Given the description of an element on the screen output the (x, y) to click on. 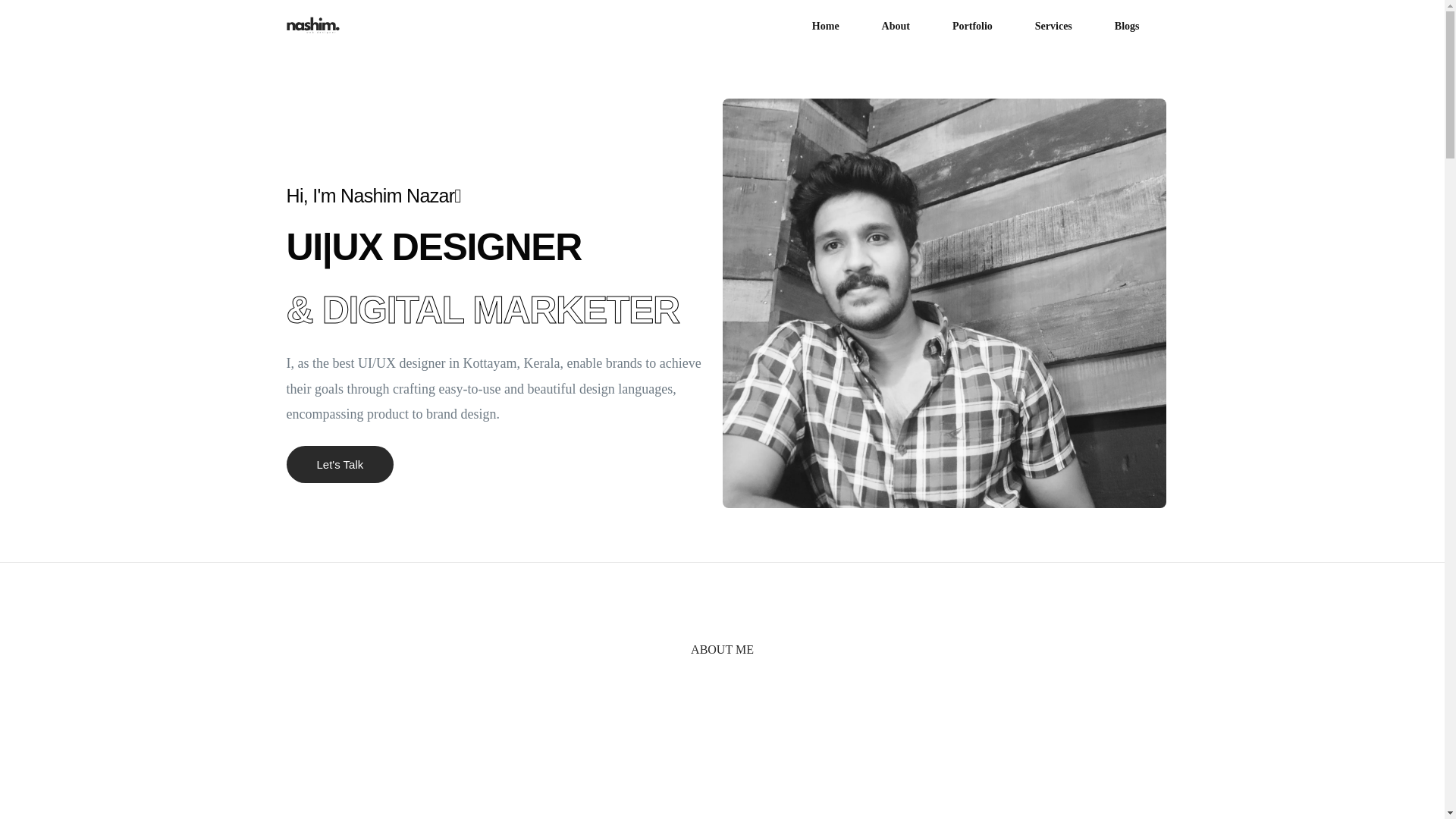
Portfolio (972, 25)
Home (825, 25)
Blogs (1116, 25)
Services (1053, 25)
Let's Talk (340, 464)
About (895, 25)
